Given the description of an element on the screen output the (x, y) to click on. 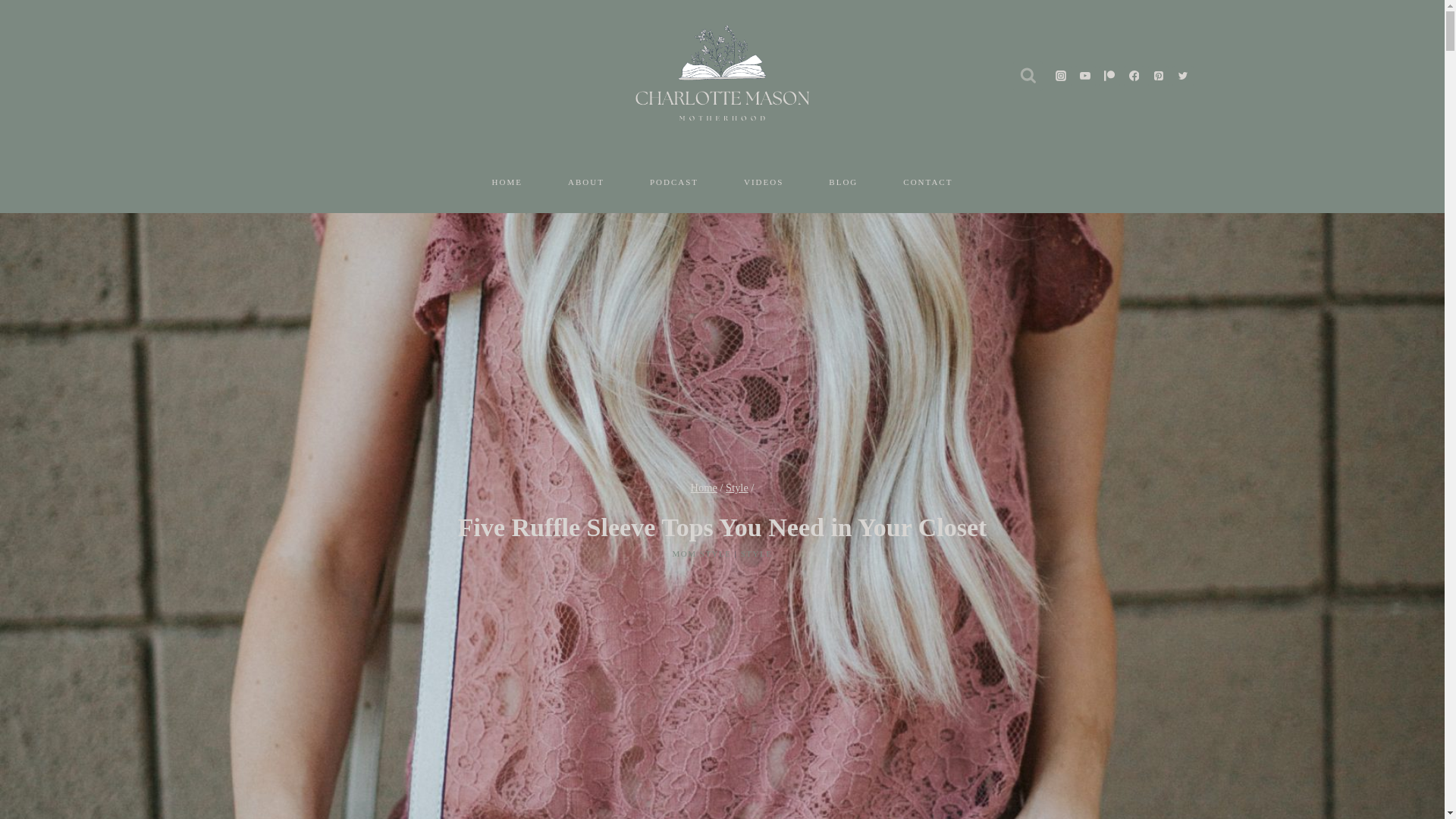
MOM STYLE (702, 552)
CONTACT (927, 182)
Home (703, 487)
STYLE (757, 552)
VIDEOS (763, 182)
ABOUT (585, 182)
PODCAST (673, 182)
Style (736, 487)
BLOG (843, 182)
HOME (506, 182)
